Given the description of an element on the screen output the (x, y) to click on. 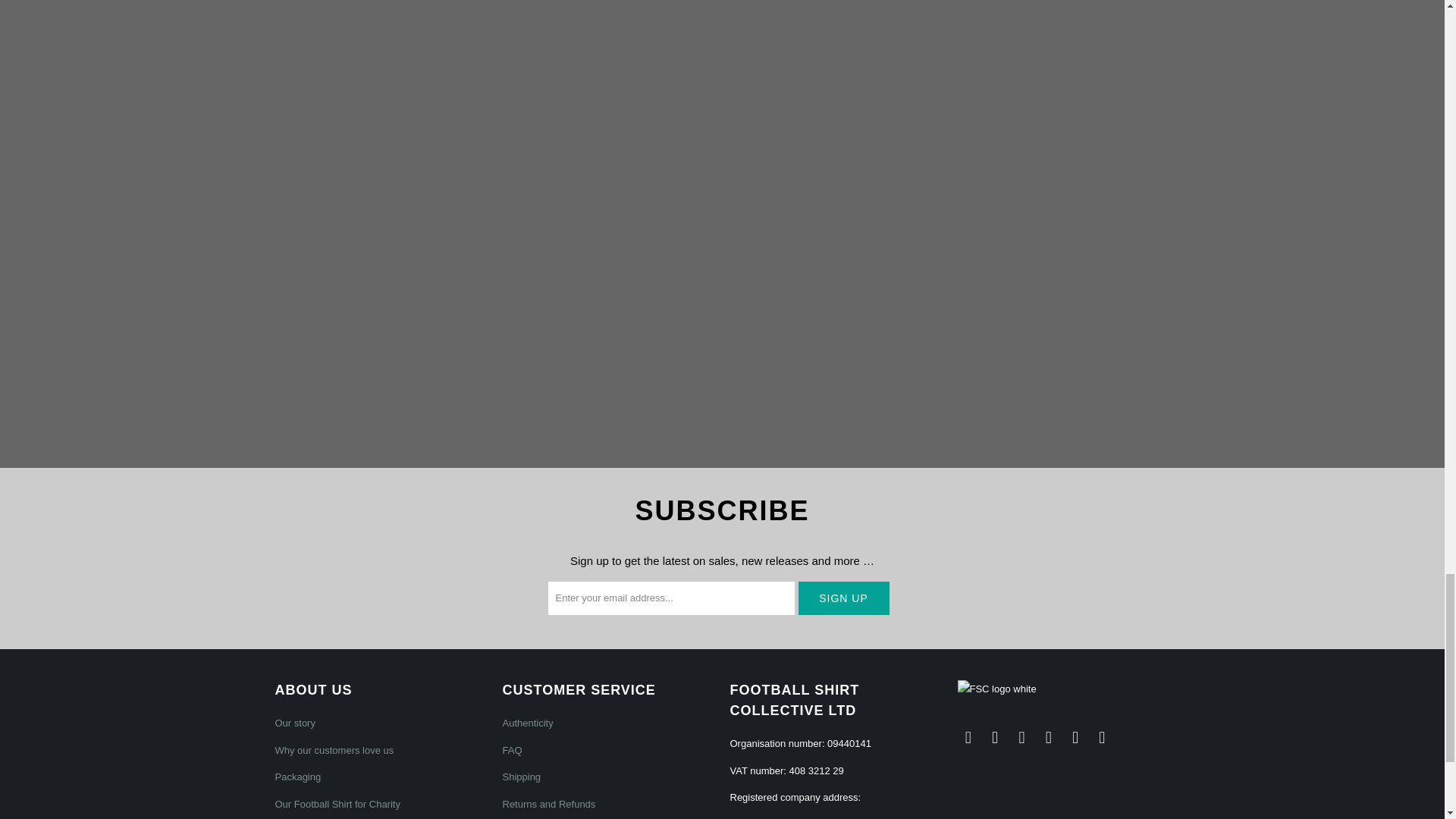
Sign Up (842, 598)
Email Football Shirt Collective (967, 737)
